Given the description of an element on the screen output the (x, y) to click on. 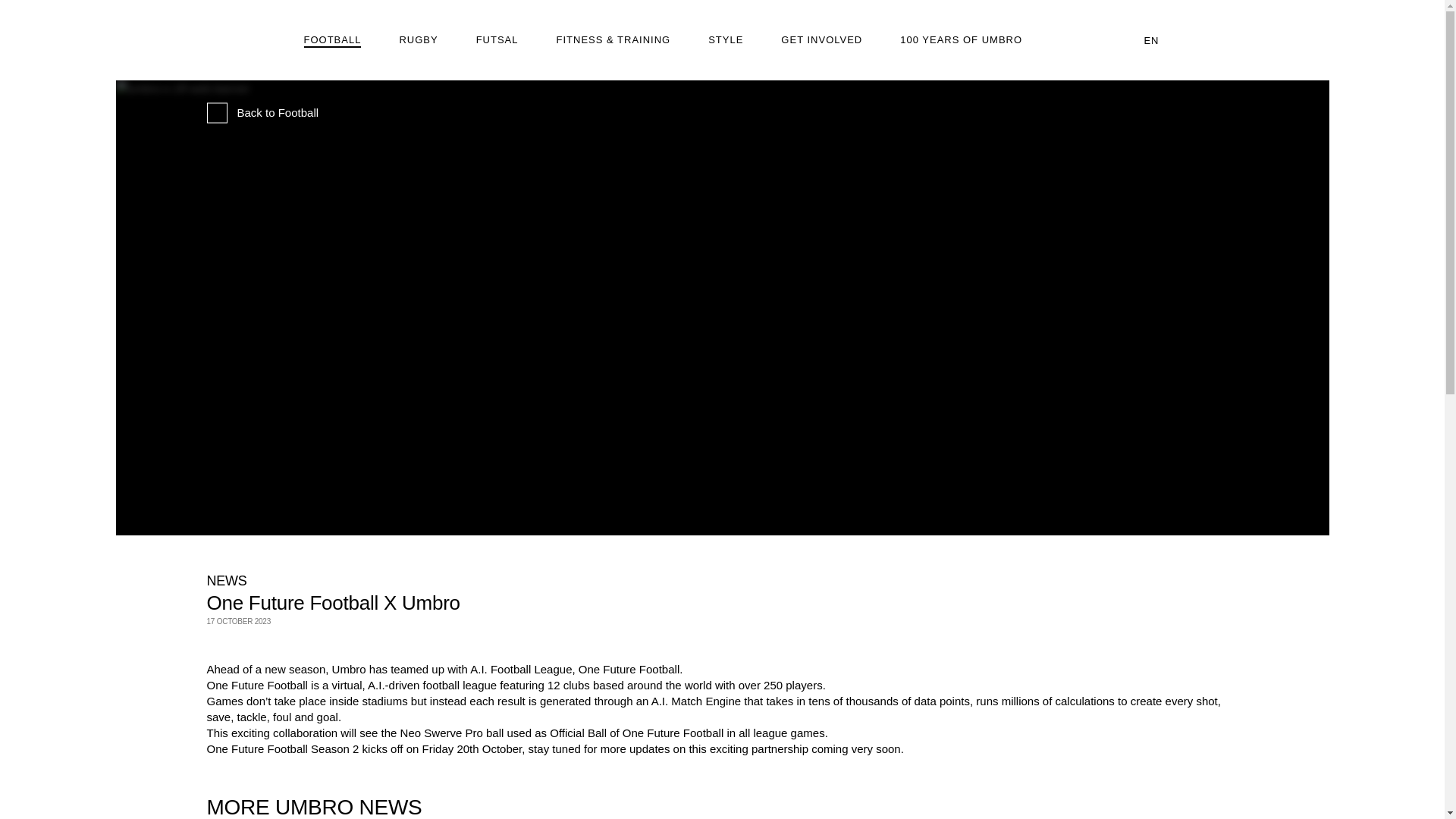
100 YEARS OF UMBRO (960, 40)
WhatsApp (281, 644)
EN (1161, 40)
ChevronBack to Football (262, 112)
RUGBY (418, 40)
FUTSAL (497, 40)
GET INVOLVED (820, 40)
ES (1181, 87)
Facebook (247, 644)
PL (1180, 87)
